Given the description of an element on the screen output the (x, y) to click on. 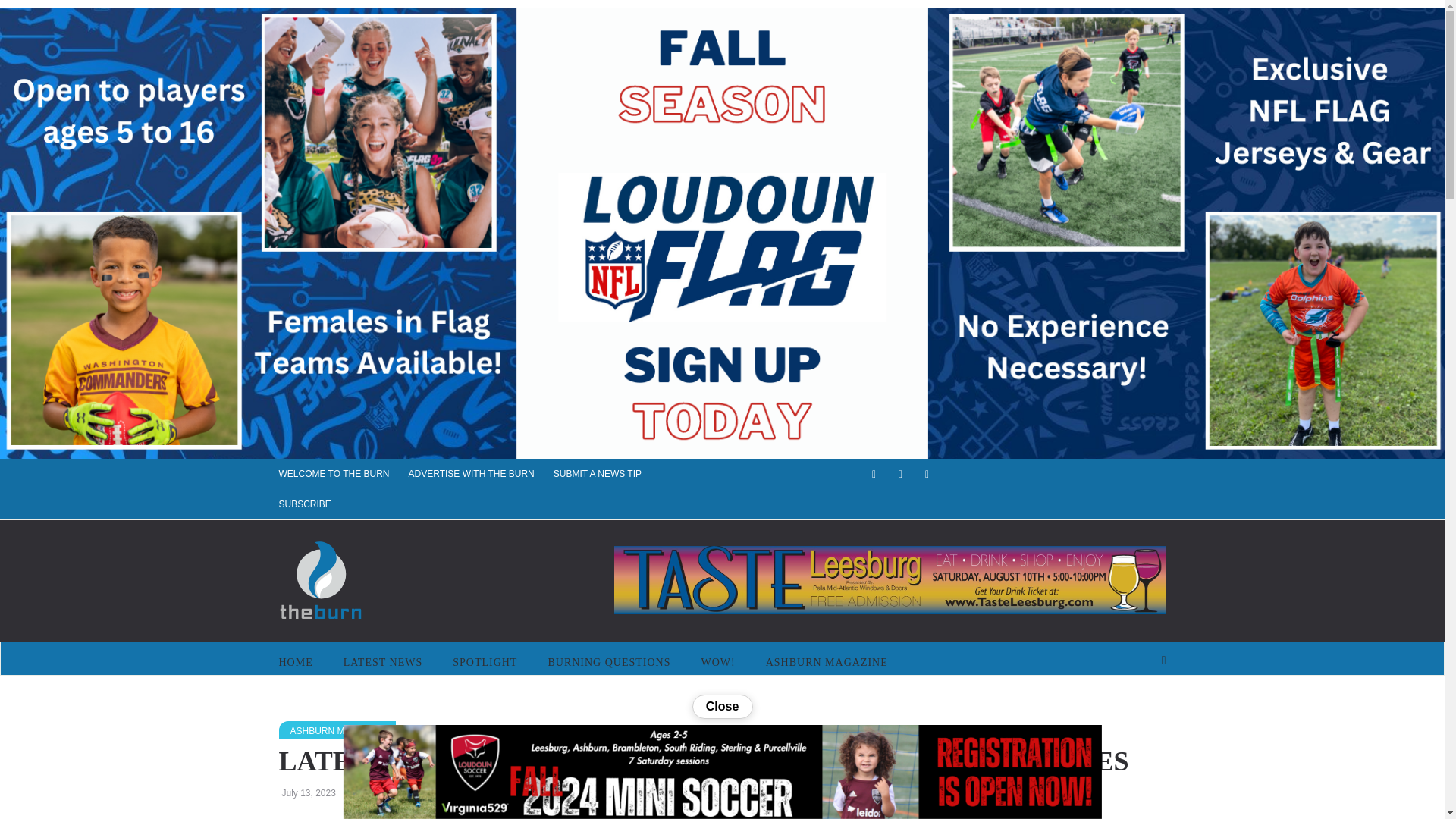
ion-social-instagram (927, 473)
ASHBURN MAGAZINE (826, 662)
ADVERTISE WITH THE BURN (481, 473)
BURNING QUESTIONS (608, 662)
ion-social-facebook (874, 473)
ASHBURN MAGAZINE (337, 730)
ion-social-twitter (899, 473)
July 13, 2023 (309, 792)
SPOTLIGHT (485, 662)
WELCOME TO THE BURN (344, 473)
728 Taste Leesburg 2024 (890, 580)
HOME (304, 662)
WOW! (717, 662)
SUBSCRIBE (314, 503)
SUBMIT A NEWS TIP (607, 473)
